Given the description of an element on the screen output the (x, y) to click on. 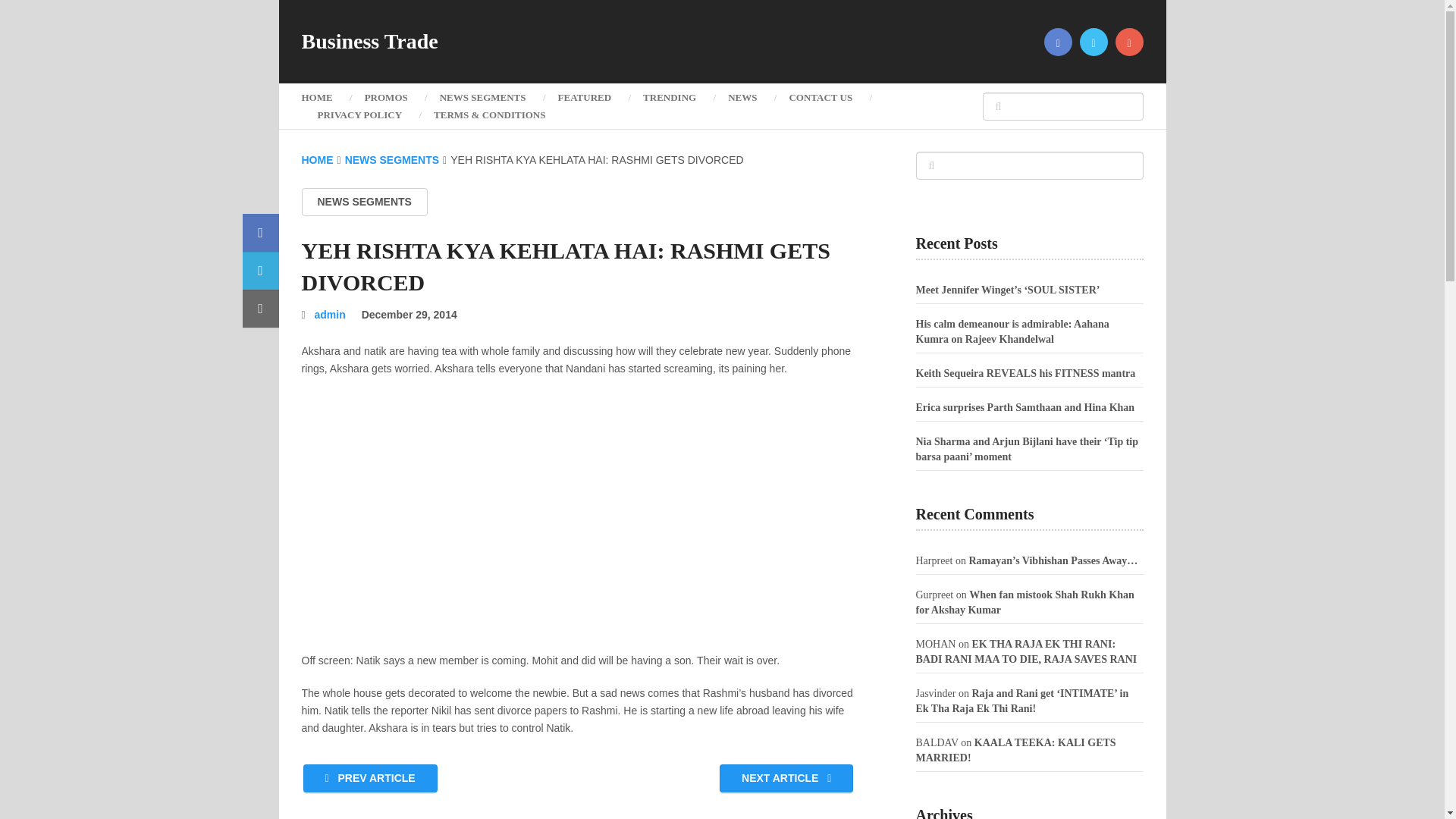
Business Trade (369, 41)
NEWS (742, 97)
FEATURED (584, 97)
CONTACT US (820, 97)
TRENDING (669, 97)
NEWS SEGMENTS (482, 97)
KAALA TEEKA: KALI GETS MARRIED! (1015, 750)
PRIVACY POLICY (360, 114)
NEXT ARTICLE (786, 778)
HOME (325, 97)
NEWS SEGMENTS (364, 202)
Erica surprises Parth Samthaan and Hina Khan (1025, 407)
View all posts in News Segments (364, 202)
PREV ARTICLE (370, 778)
